Given the description of an element on the screen output the (x, y) to click on. 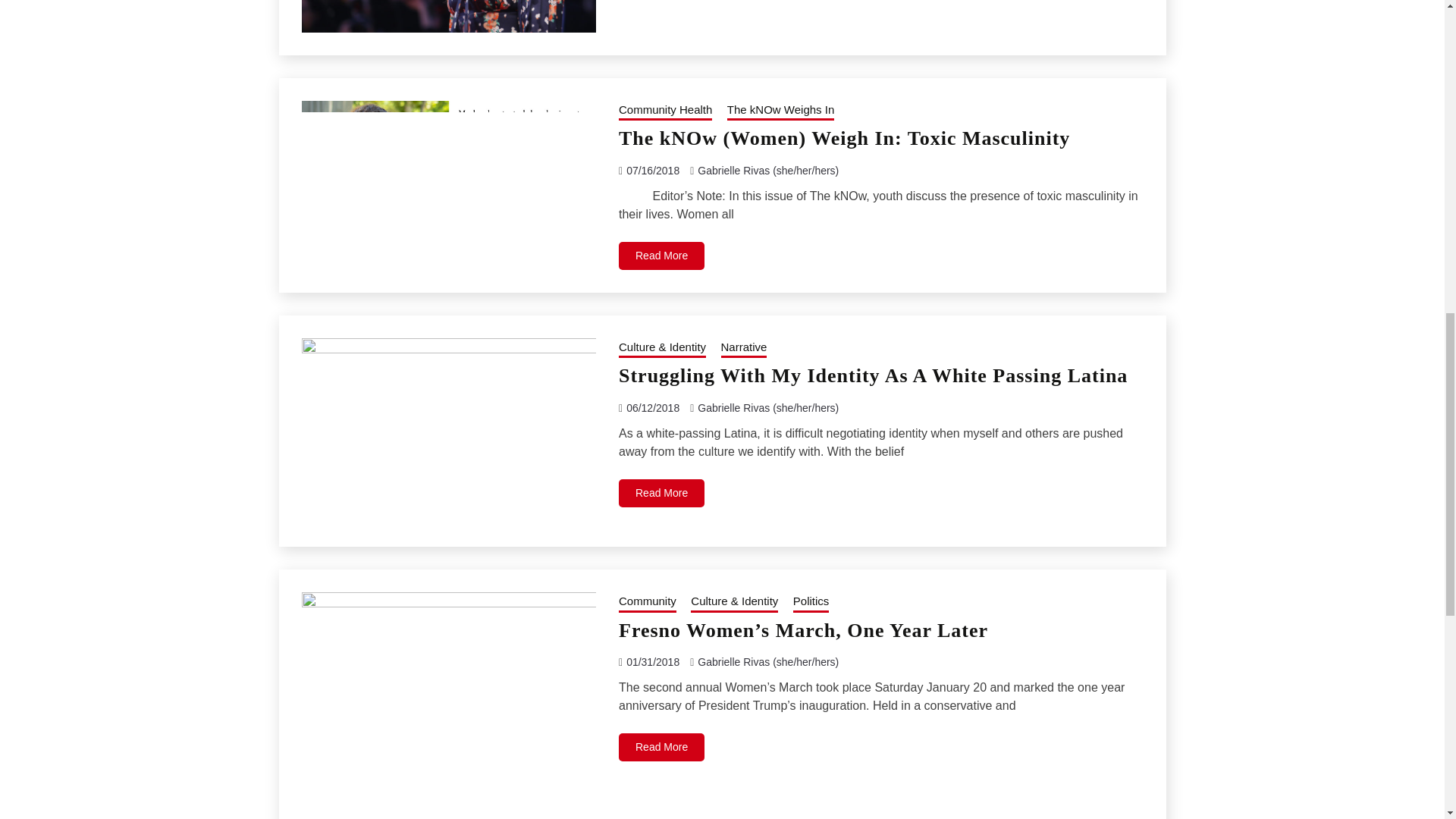
Read More (661, 255)
The kNOw Weighs In (780, 111)
Community Health (664, 111)
